Given the description of an element on the screen output the (x, y) to click on. 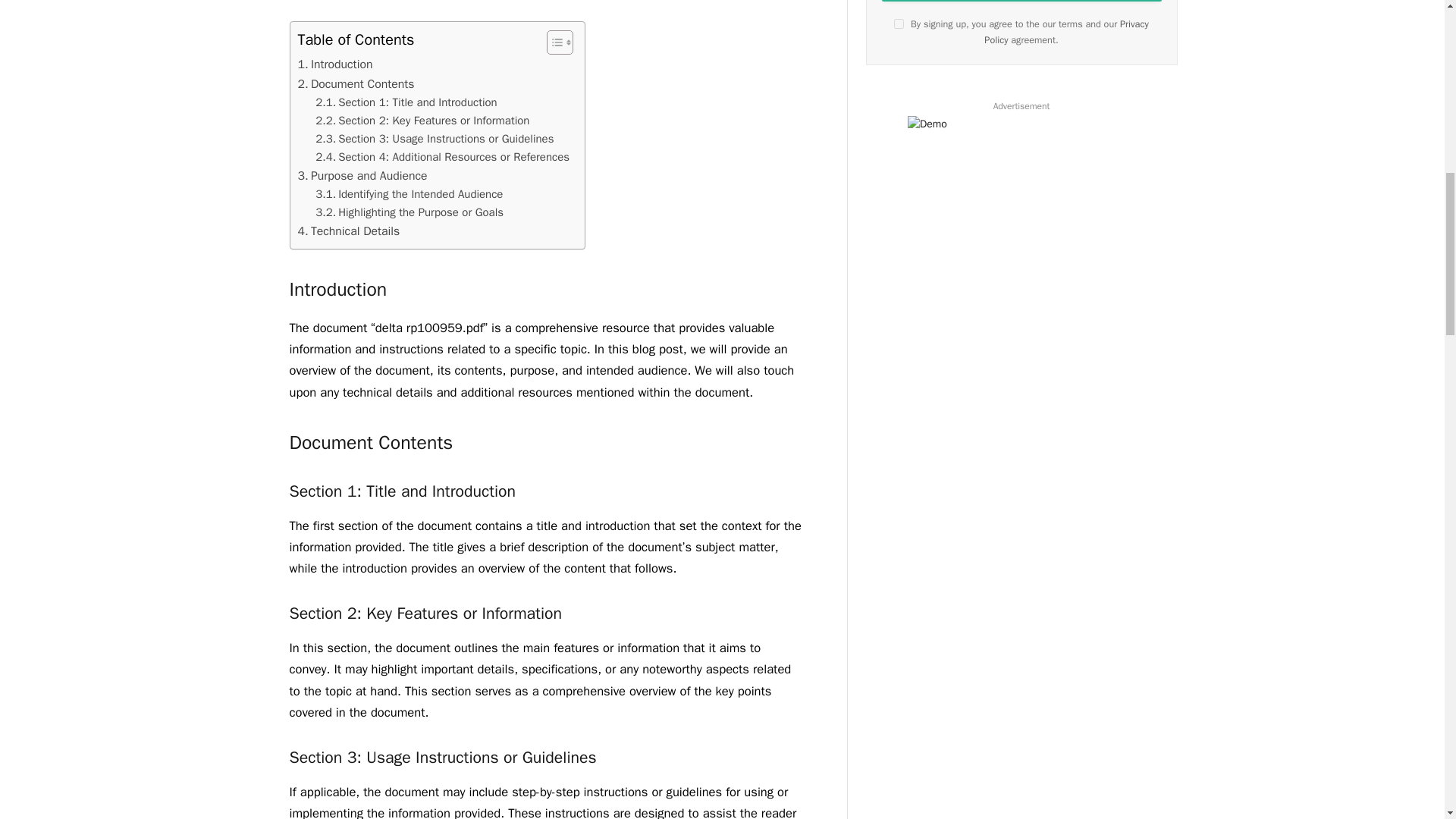
Introduction (335, 64)
on (898, 23)
